Given the description of an element on the screen output the (x, y) to click on. 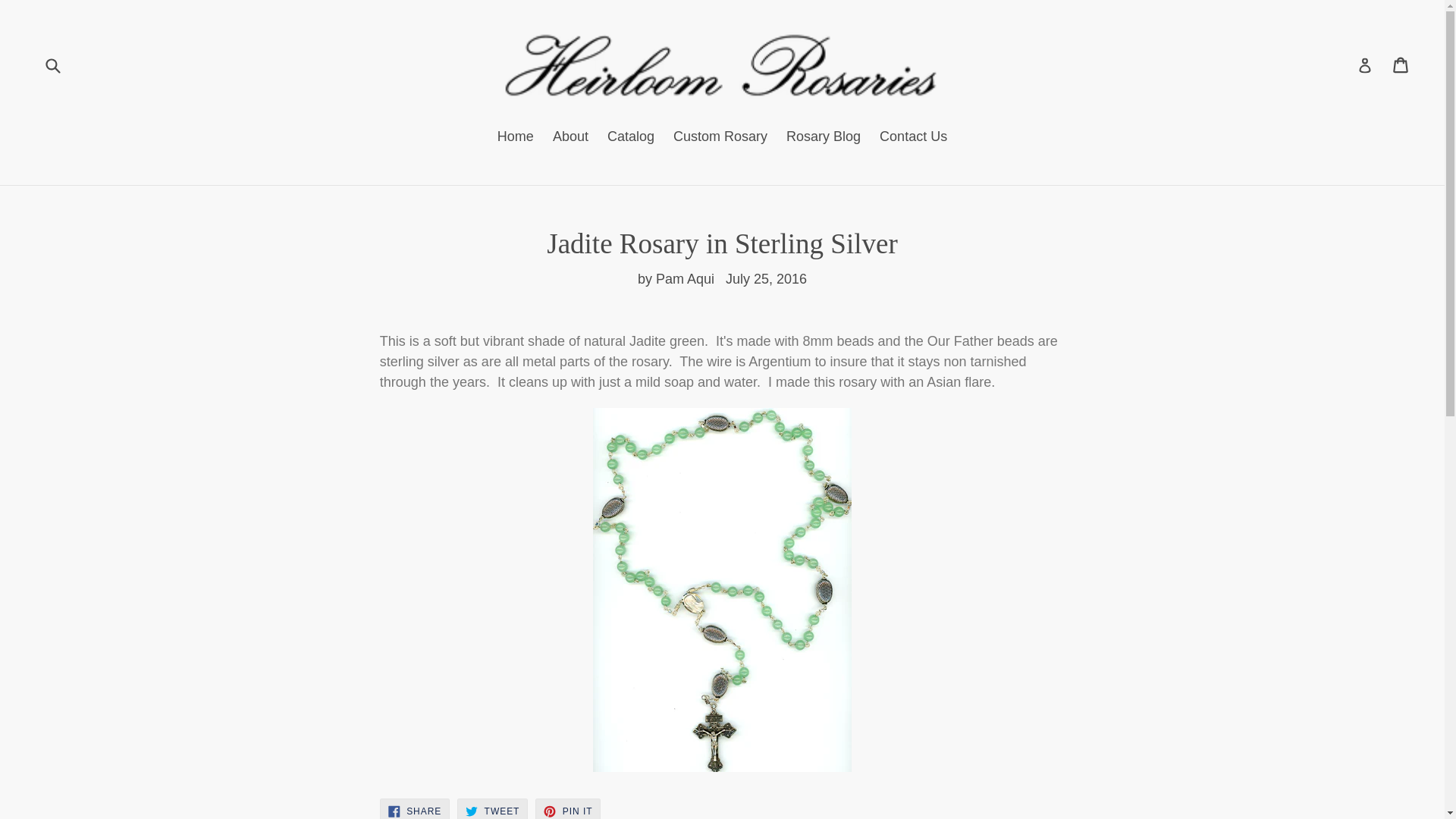
Rosary Blog (492, 808)
Home (822, 137)
Tweet on Twitter (515, 137)
About (492, 808)
Contact Us (569, 137)
Share on Facebook (567, 808)
Pin on Pinterest (913, 137)
